Given the description of an element on the screen output the (x, y) to click on. 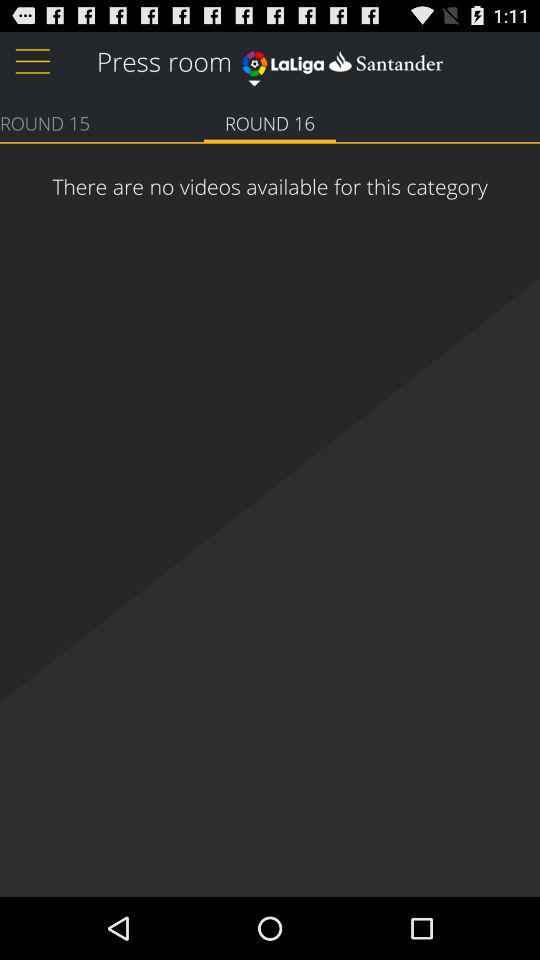
select item next to press room item (342, 59)
